Given the description of an element on the screen output the (x, y) to click on. 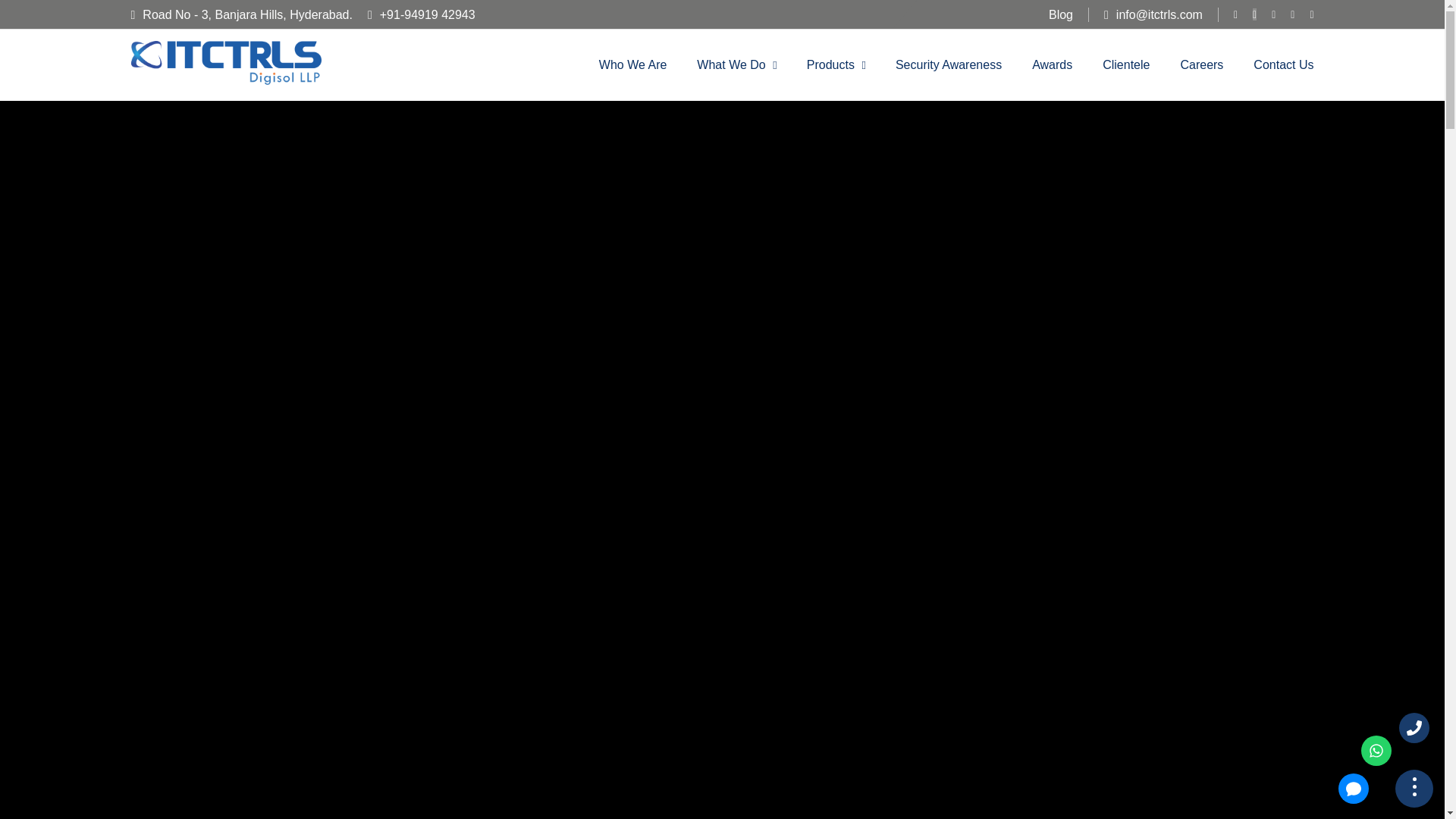
Awards (1051, 64)
Contact Us (1283, 64)
Careers (1201, 64)
Who We Are (632, 64)
Clientele (1126, 64)
Cyber Security Awareness (948, 64)
Products (830, 64)
Blog (1060, 13)
What We Do (731, 64)
Security Awareness (948, 64)
